Given the description of an element on the screen output the (x, y) to click on. 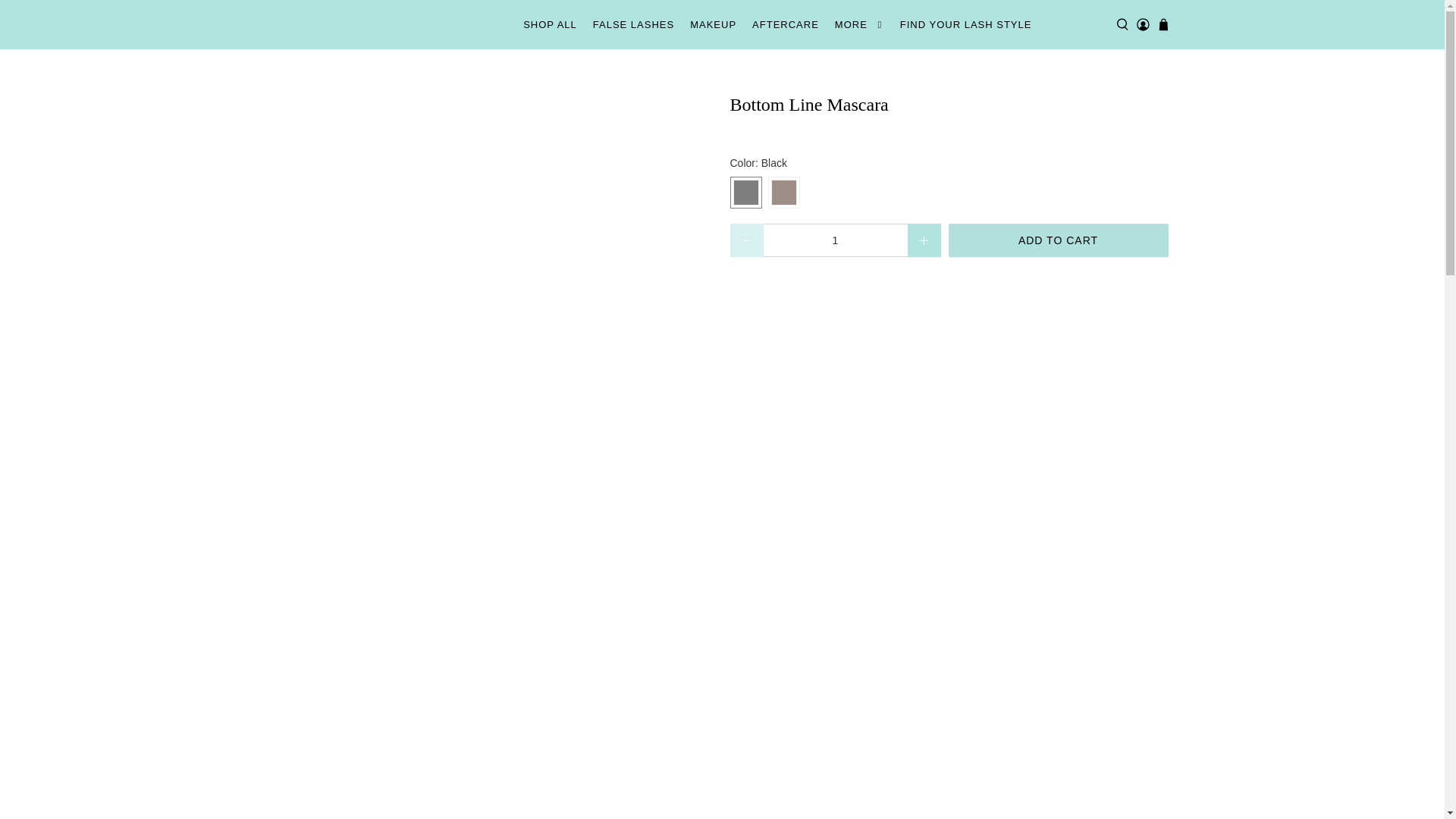
FIND YOUR LASH STYLE (965, 24)
MAKEUP (713, 24)
1 (834, 240)
FALSE LASHES (633, 24)
MORE (859, 24)
SHOP ALL (550, 24)
AFTERCARE (785, 24)
